Given the description of an element on the screen output the (x, y) to click on. 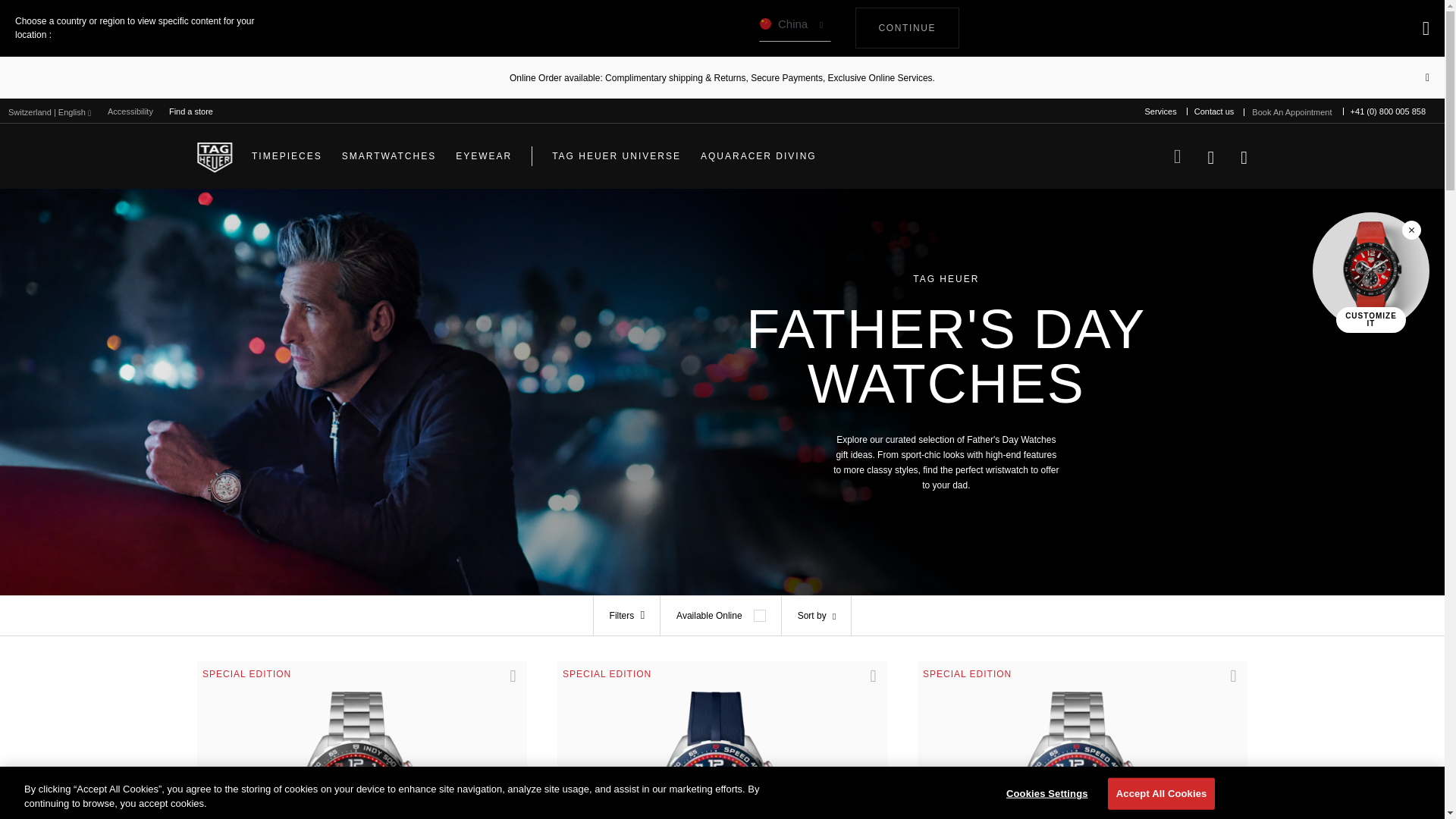
Accessibility (907, 27)
Contact us (130, 111)
Close (1213, 111)
Book An Appointment (1427, 77)
Add to my wishlist (1291, 112)
China (1226, 683)
Close the menu and stay on this website (794, 27)
Add to my wishlist (1425, 27)
TIMEPIECES (506, 683)
Services (286, 156)
My TAG Heuer account (1160, 111)
Add to my wishlist (1210, 155)
Homepage (866, 683)
TAG Heuer logo" (213, 156)
